Given the description of an element on the screen output the (x, y) to click on. 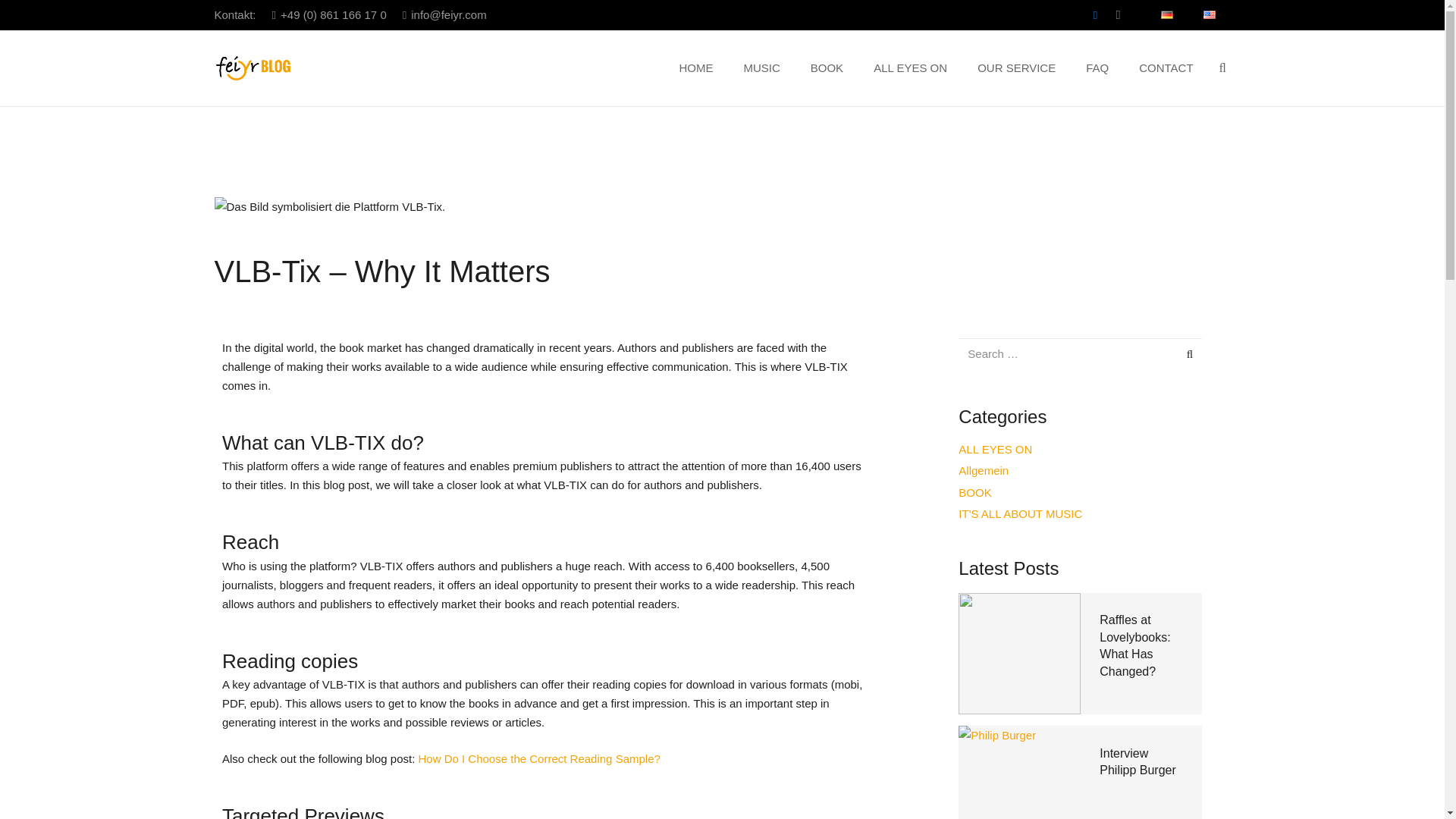
BOOK (826, 67)
Facebook (1095, 15)
ALL EYES ON (995, 449)
ALL EYES ON (910, 67)
Interview Philipp Burger (1137, 761)
Instagram (1117, 15)
Search (1179, 354)
OUR SERVICE (1016, 67)
Raffles at Lovelybooks: What Has Changed? (1134, 645)
How Do I Choose the Correct Reading Sample? (540, 758)
